Given the description of an element on the screen output the (x, y) to click on. 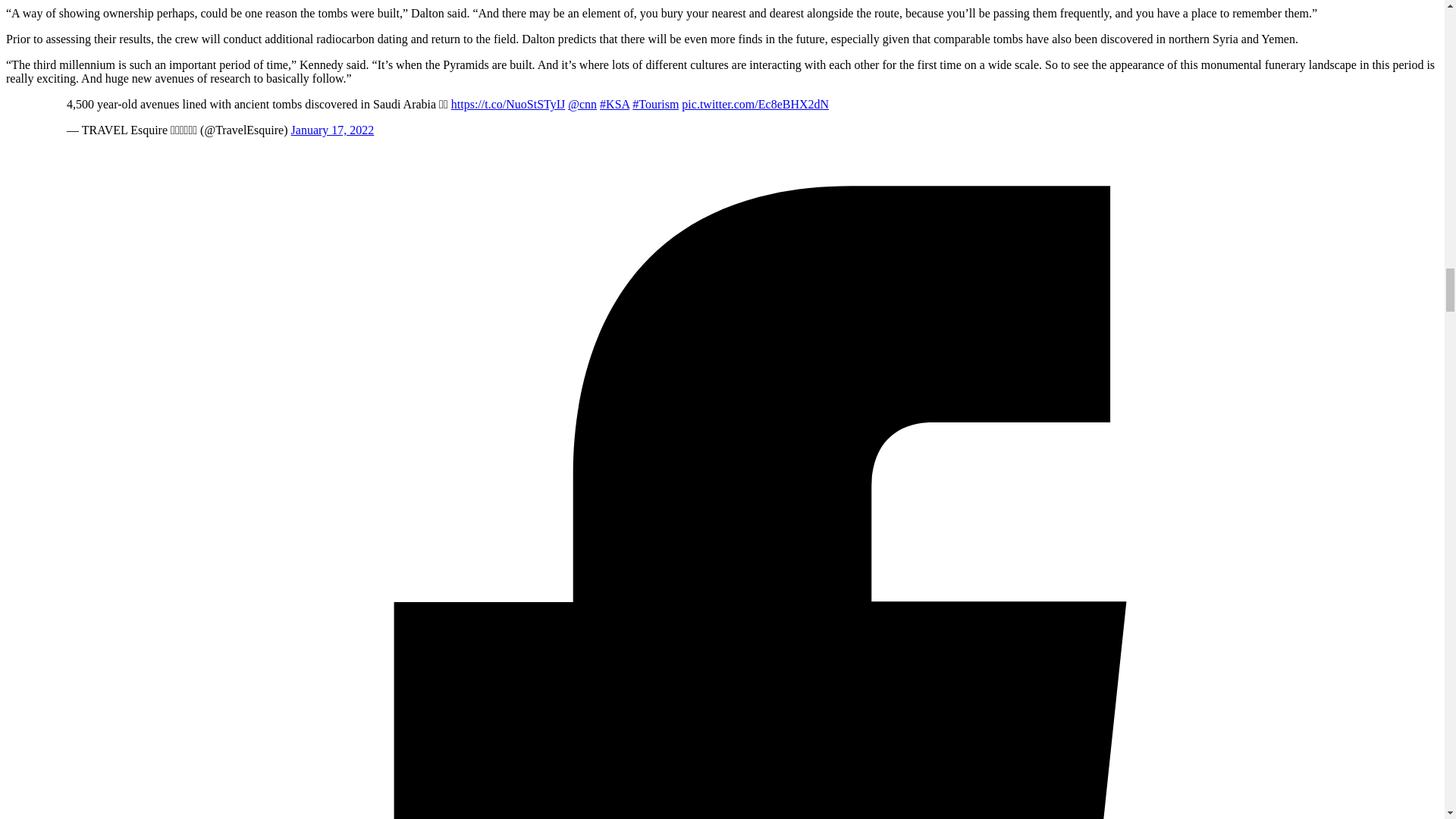
January 17, 2022 (332, 129)
